Given the description of an element on the screen output the (x, y) to click on. 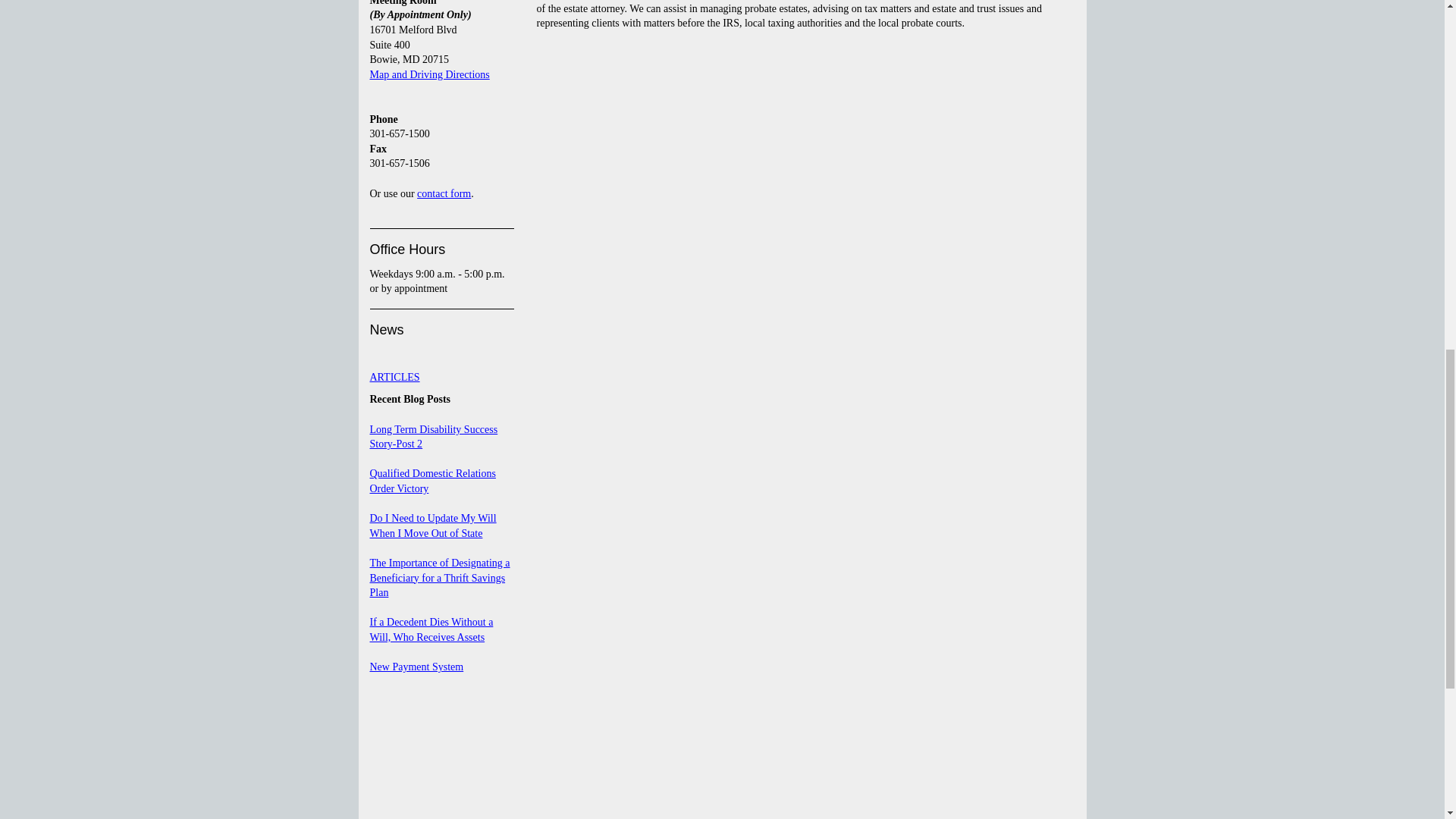
New Payment System (416, 666)
ARTICLES (394, 377)
Long Term Disability Success Story-Post 2 (433, 437)
If a Decedent Dies Without a Will, Who Receives Assets (431, 629)
Do I Need to Update My Will When I Move Out of State (432, 525)
contact form (443, 193)
Qualified Domestic Relations Order Victory (432, 480)
Map and Driving Directions (429, 74)
